Given the description of an element on the screen output the (x, y) to click on. 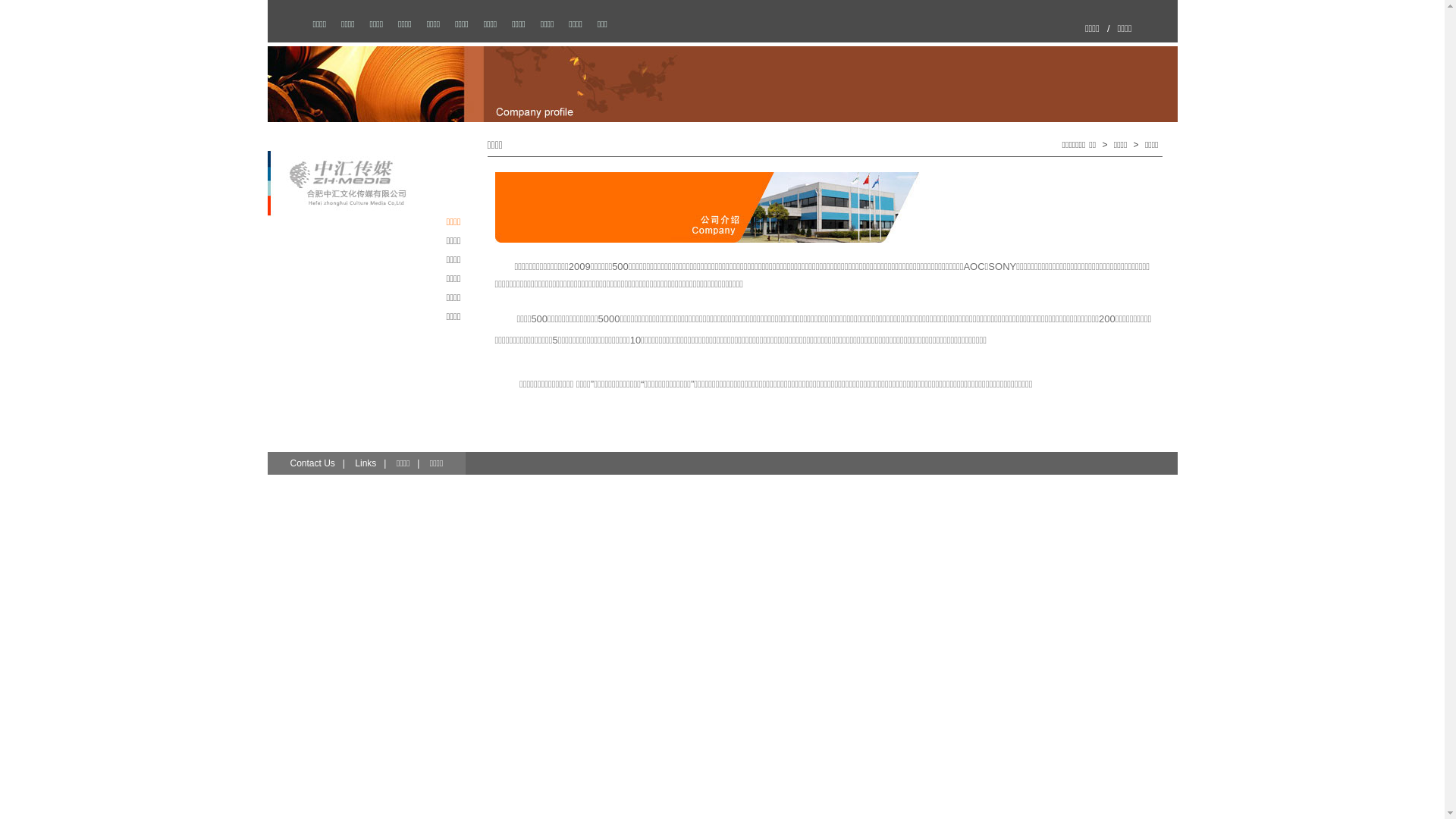
Contact Us Element type: text (311, 463)
Links Element type: text (365, 463)
